Given the description of an element on the screen output the (x, y) to click on. 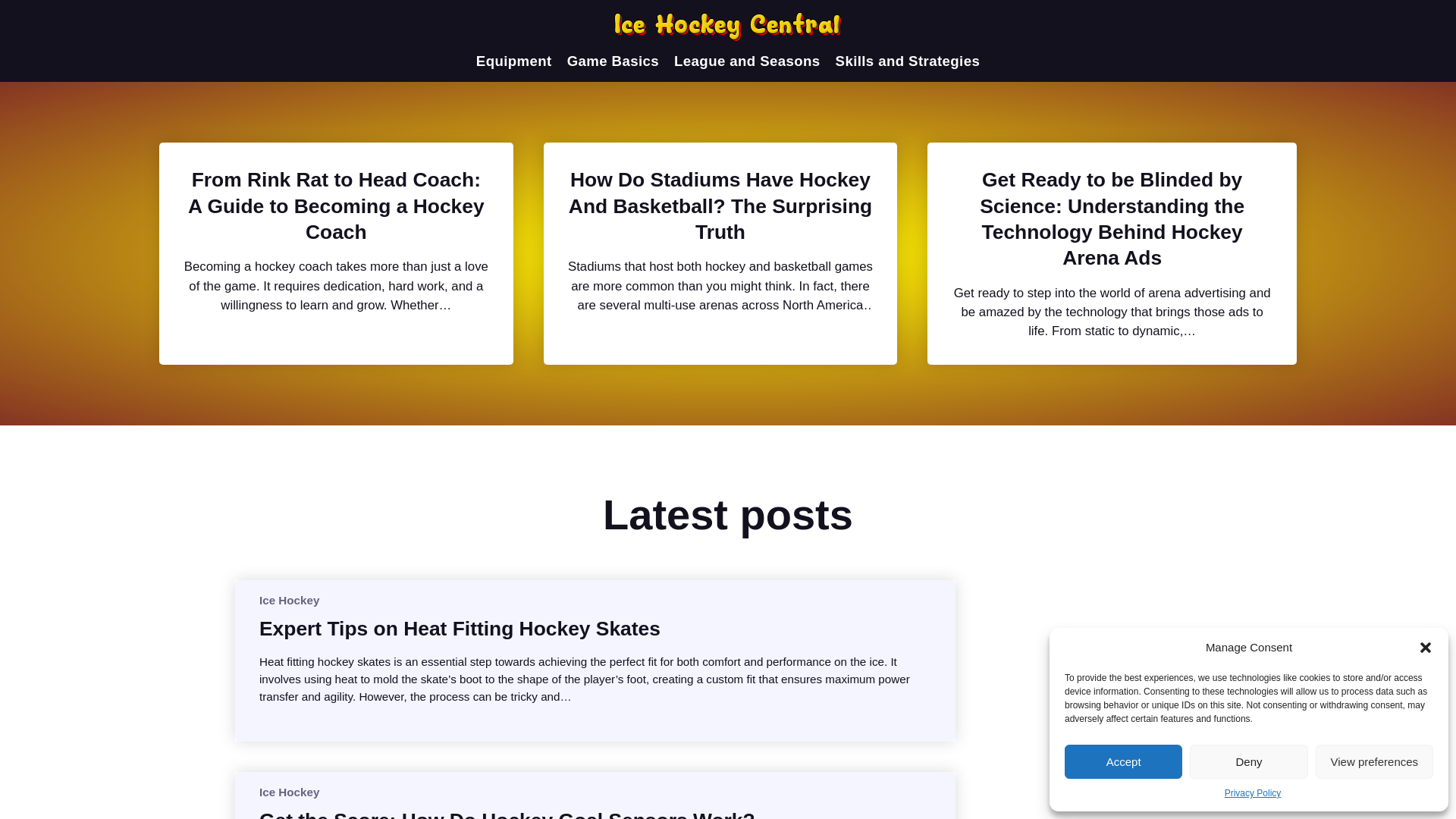
Ice Hockey (288, 791)
Skills and Strategies (907, 61)
Accept (1123, 761)
Get the Score: How Do Hockey Goal Sensors Work? (507, 813)
Equipment (513, 61)
Expert Tips on Heat Fitting Hockey Skates (460, 628)
Ice Hockey (288, 599)
Game Basics (613, 61)
